Given the description of an element on the screen output the (x, y) to click on. 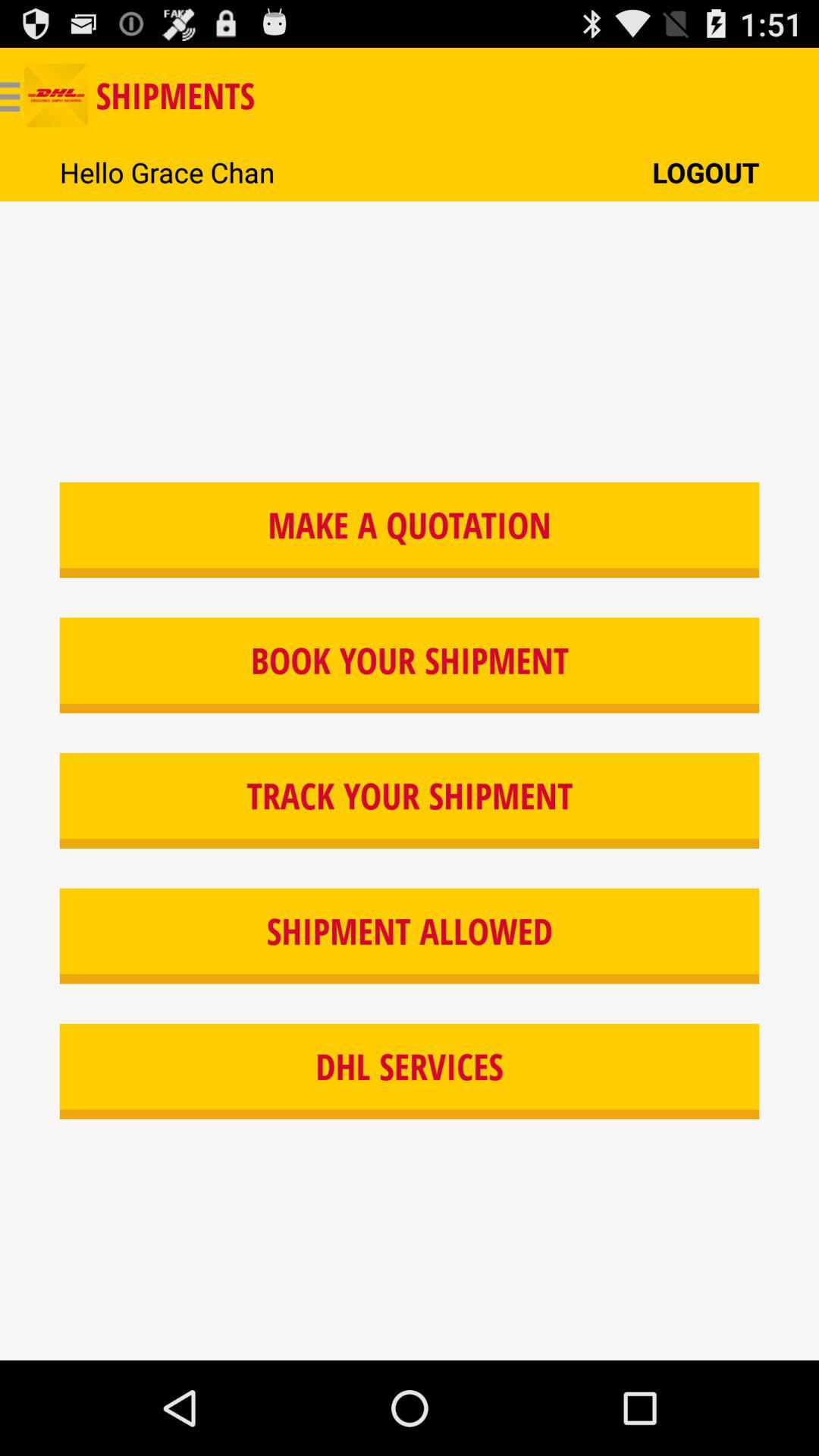
turn off the make a quotation icon (409, 529)
